Given the description of an element on the screen output the (x, y) to click on. 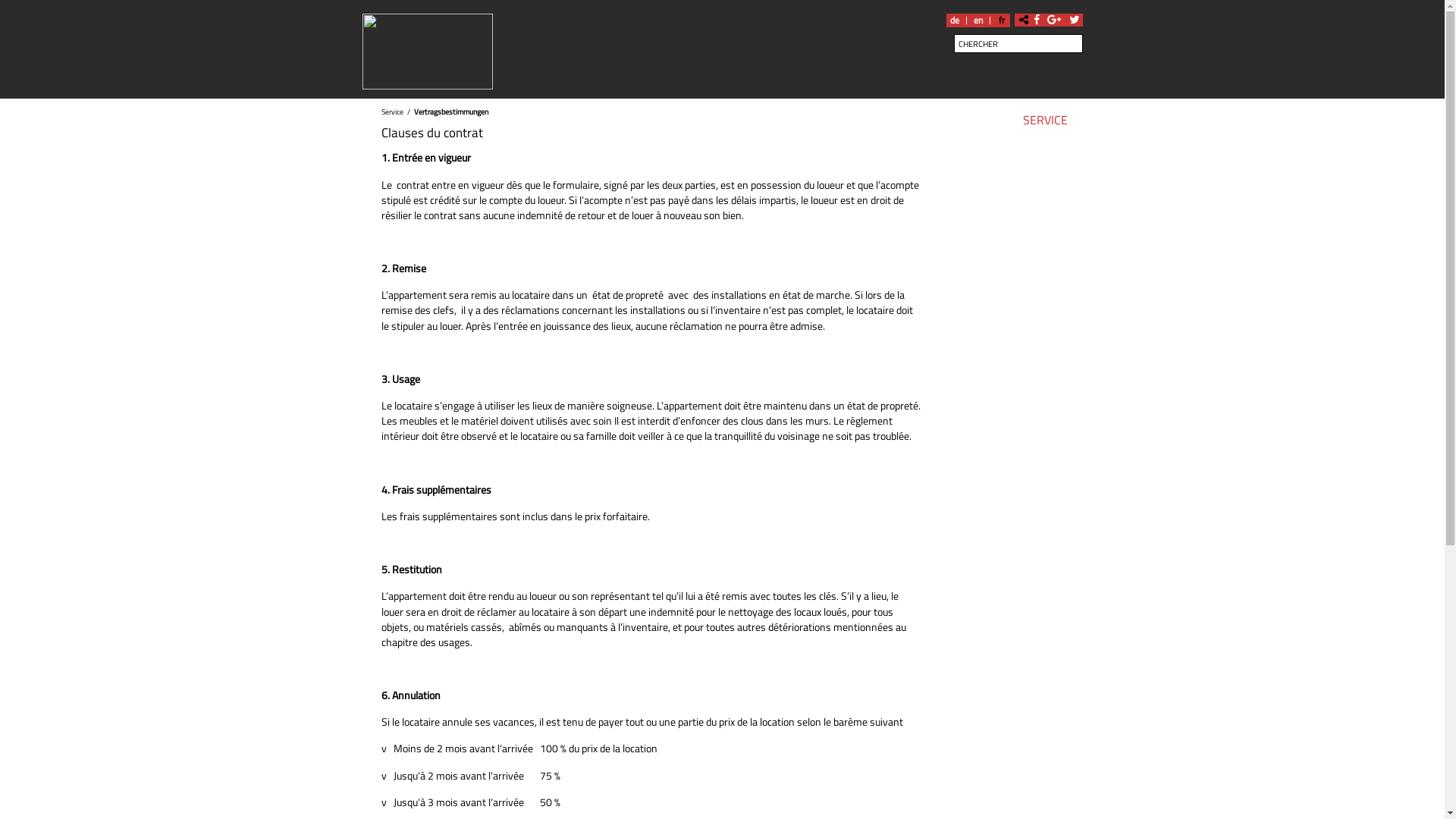
BLATTEN Element type: text (633, 122)
APPARTEMENTS Element type: text (533, 122)
fr Element type: text (1001, 19)
de Element type: text (954, 19)
Vertragsbestimmungen Element type: text (451, 111)
Service Element type: text (391, 111)
SERVICE Element type: text (1044, 122)
MASSAGEN4YOU Element type: text (845, 122)
HIVER Element type: text (702, 122)
en Element type: text (977, 19)
